Given the description of an element on the screen output the (x, y) to click on. 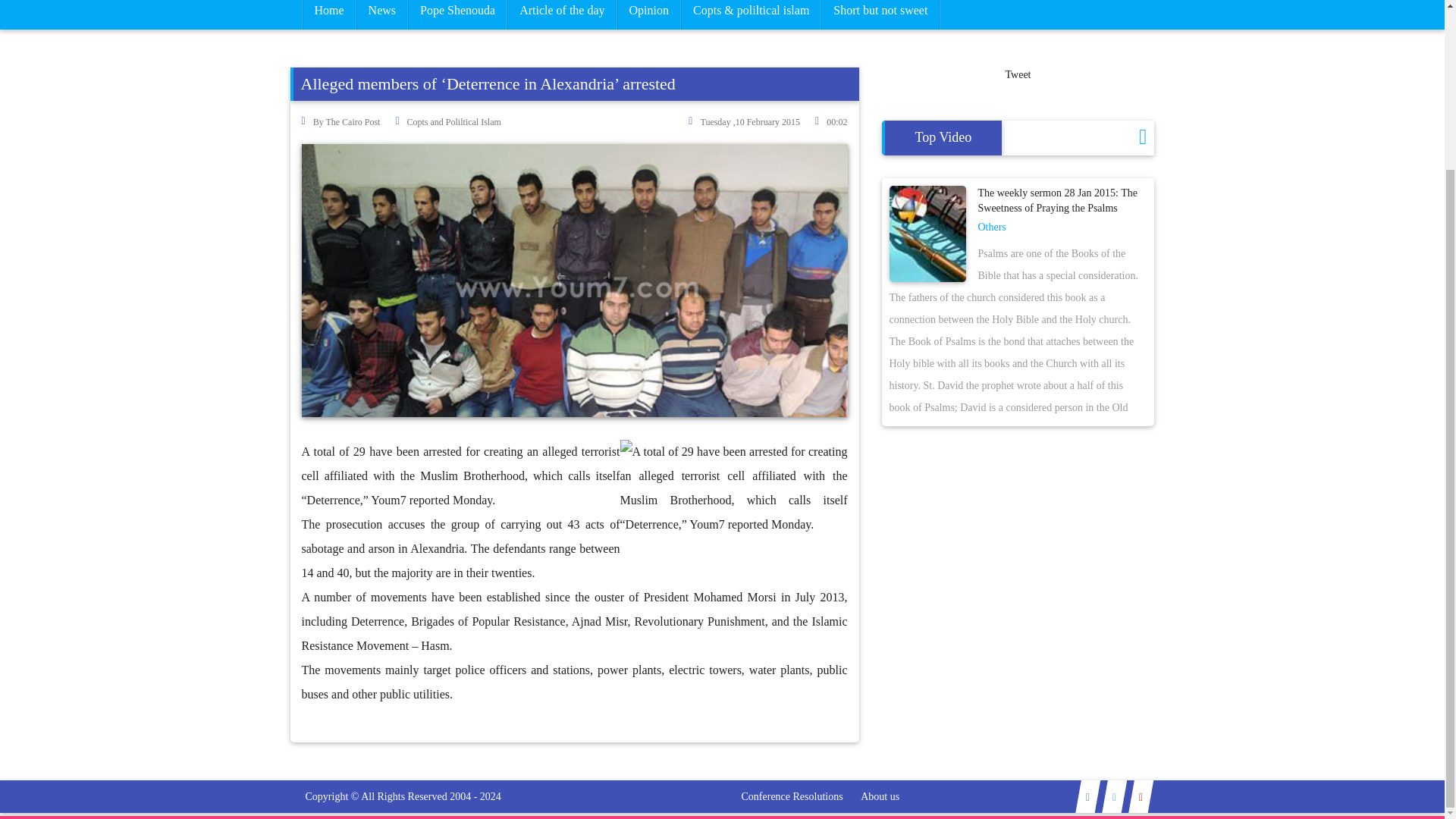
About us (879, 796)
News (381, 14)
Article of the day (561, 14)
Opinion (648, 14)
Conference Resolutions (792, 796)
Tweet (1017, 74)
Home (328, 14)
Pope Shenouda (457, 14)
Short but not sweet (880, 14)
